Given the description of an element on the screen output the (x, y) to click on. 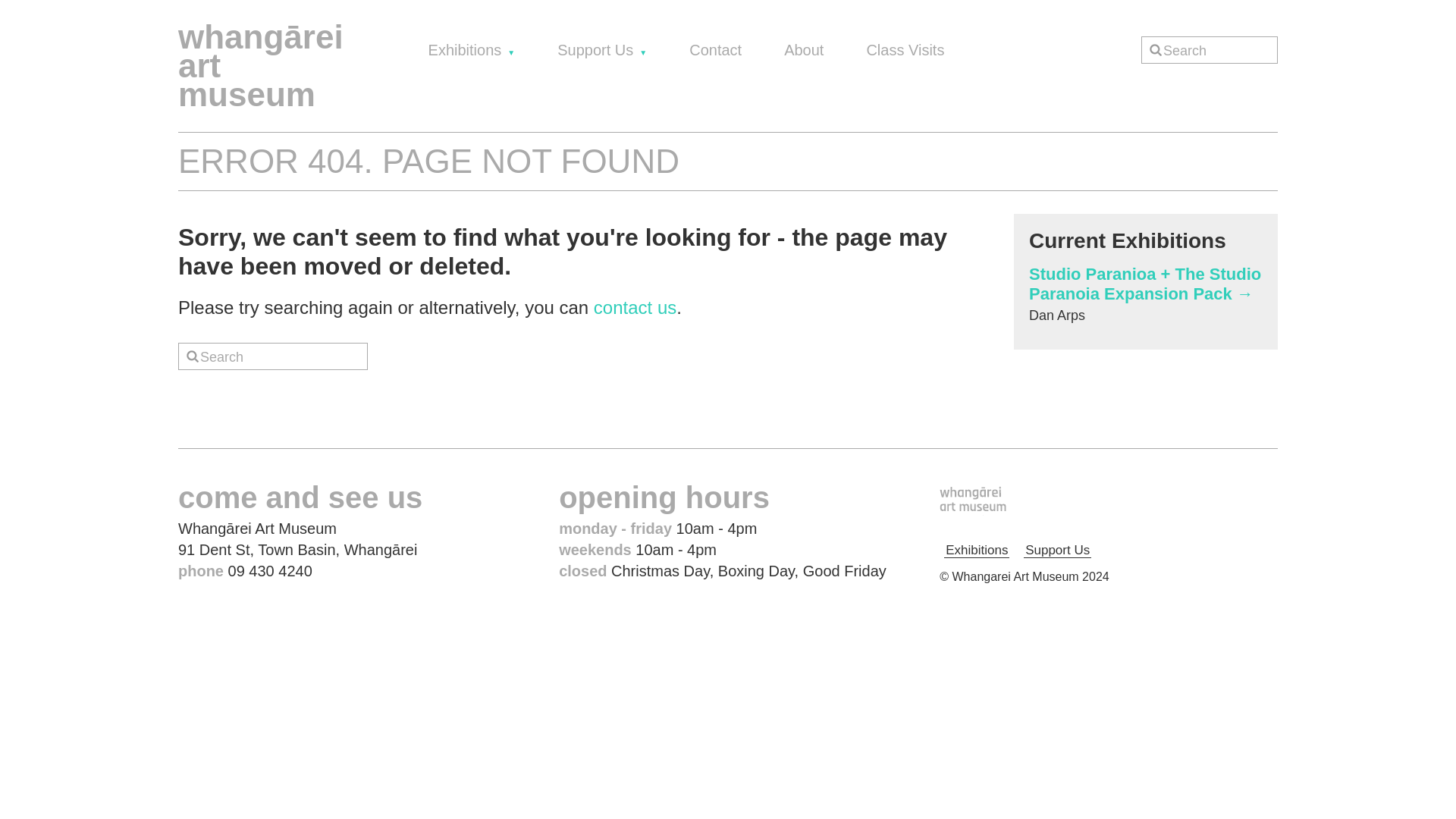
Support Us (1056, 547)
Exhibitions (976, 547)
Exhibitions (471, 50)
Search (1291, 33)
contact us (635, 307)
Contact (714, 50)
Class Visits (905, 50)
Search (1291, 33)
Search (381, 340)
Search for: (272, 356)
